Given the description of an element on the screen output the (x, y) to click on. 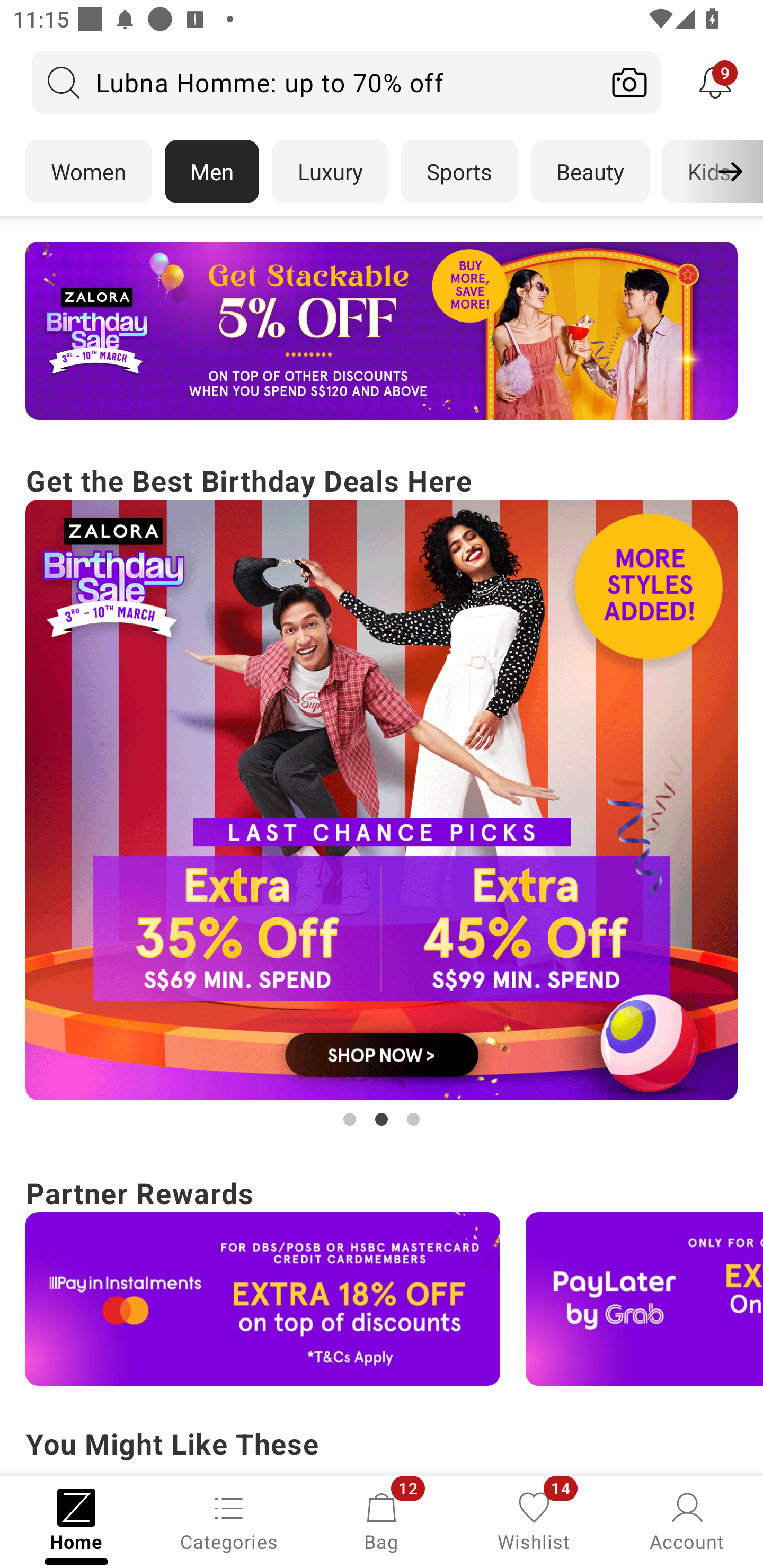
Lubna Homme: up to 70% off (314, 82)
Women (88, 171)
Men (211, 171)
Luxury (329, 171)
Sports (459, 171)
Beauty (590, 171)
Campaign banner (381, 330)
Get the Best Birthday Deals Here Campaign banner (381, 794)
Campaign banner (381, 800)
Partner Rewards Campaign banner Campaign banner (381, 1277)
Campaign banner (262, 1299)
Campaign banner (644, 1299)
Categories (228, 1519)
Bag, 12 new notifications Bag (381, 1519)
Wishlist, 14 new notifications Wishlist (533, 1519)
Account (686, 1519)
